Given the description of an element on the screen output the (x, y) to click on. 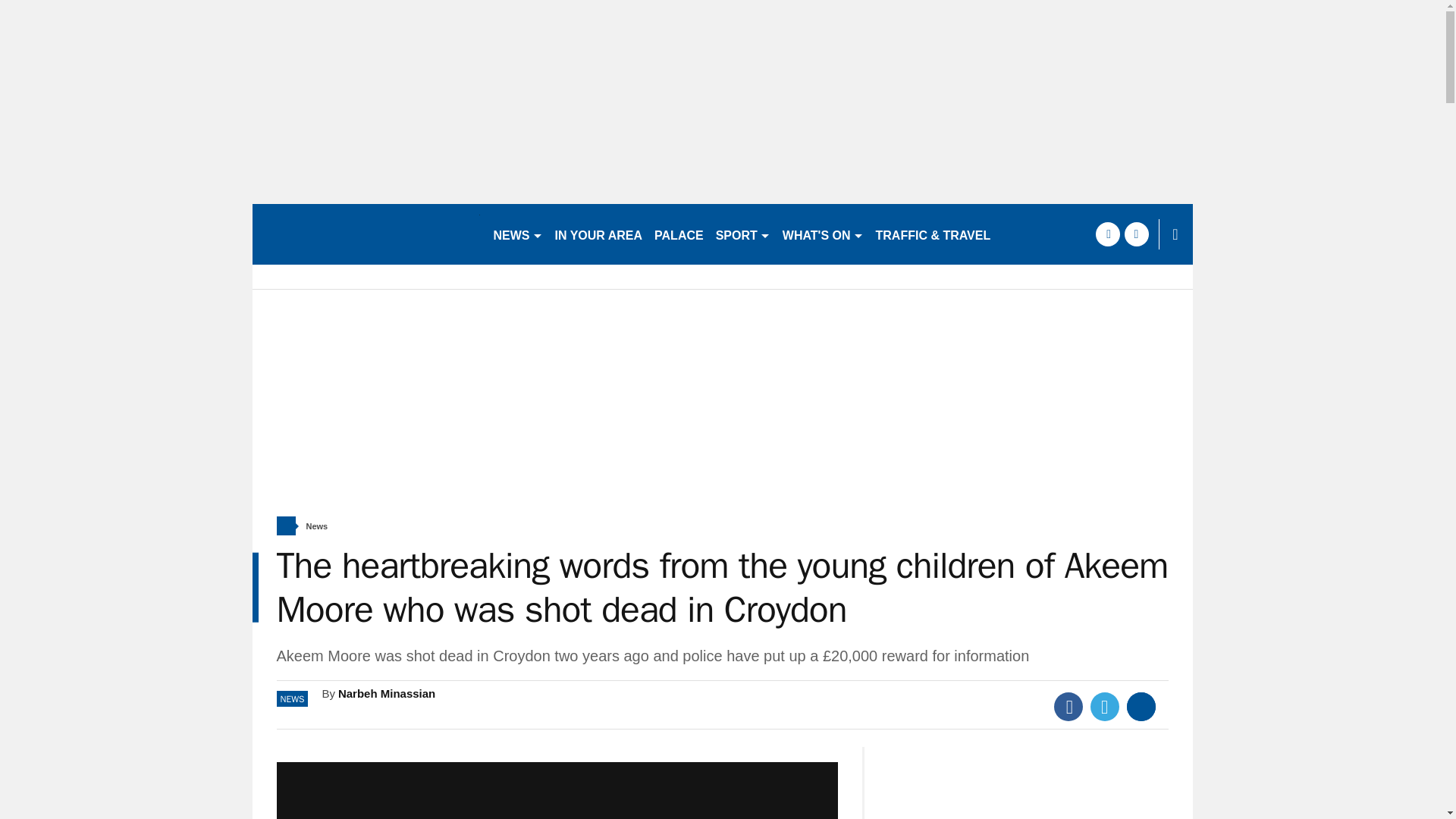
SPORT (743, 233)
NEWS (517, 233)
facebook (1106, 233)
Twitter (1104, 706)
Facebook (1068, 706)
croydonadvertiser (365, 233)
twitter (1136, 233)
IN YOUR AREA (598, 233)
WHAT'S ON (822, 233)
PALACE (678, 233)
